Given the description of an element on the screen output the (x, y) to click on. 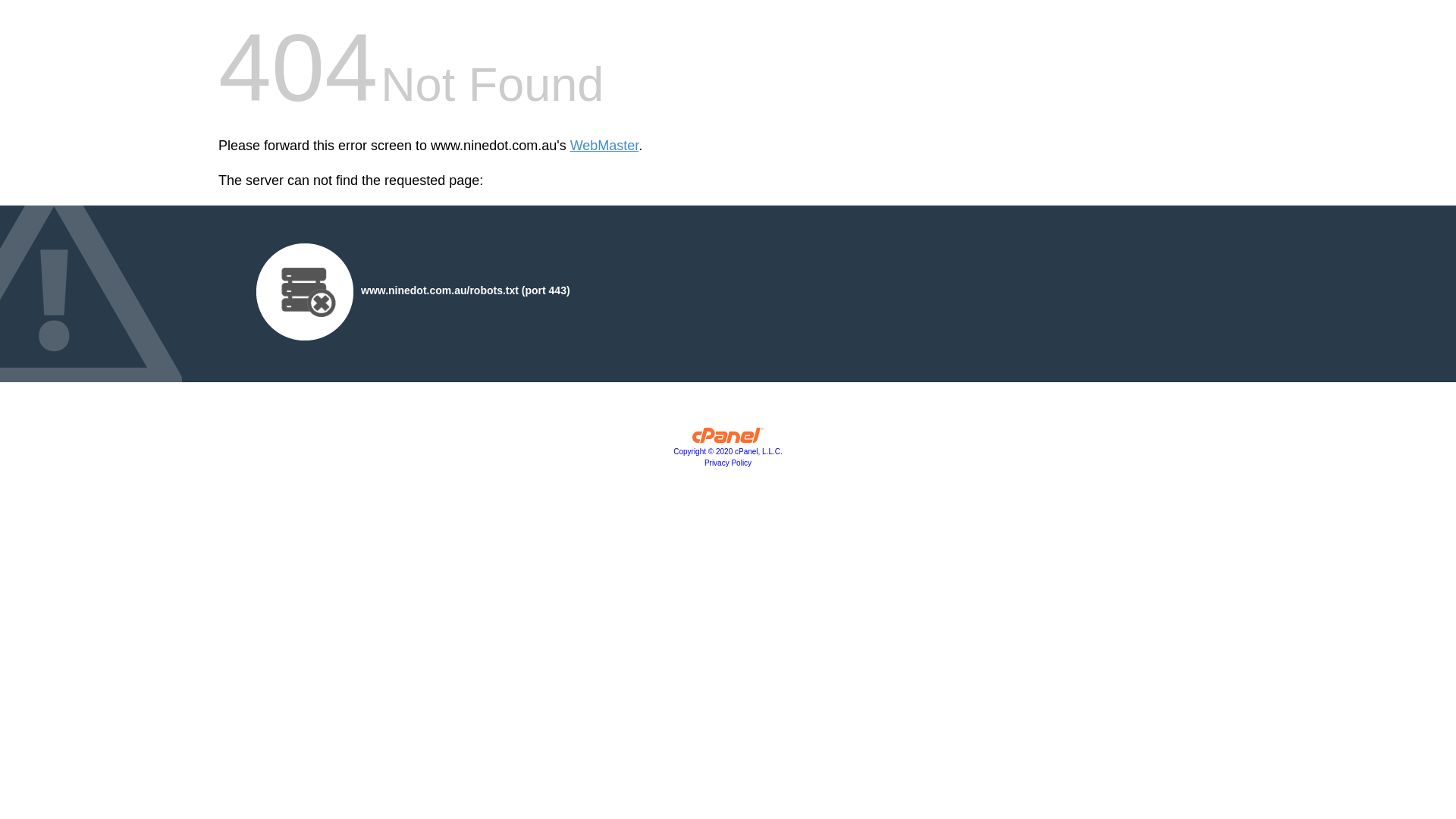
cPanel, Inc. Element type: hover (728, 439)
Privacy Policy Element type: text (727, 462)
WebMaster Element type: text (604, 145)
